Given the description of an element on the screen output the (x, y) to click on. 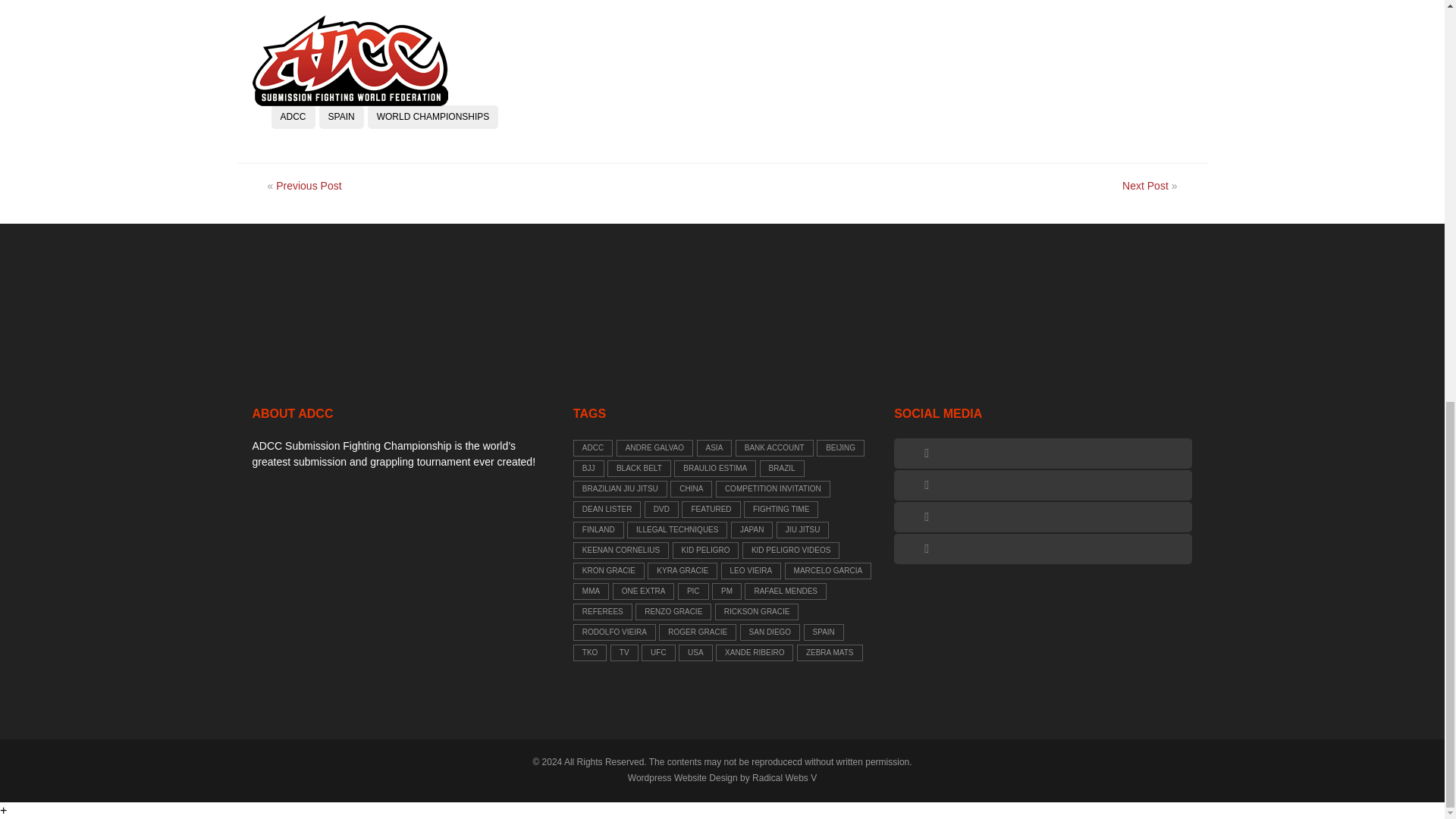
WORLD CHAMPIONSHIPS (433, 116)
ADCC (292, 116)
SPAIN (341, 116)
